Given the description of an element on the screen output the (x, y) to click on. 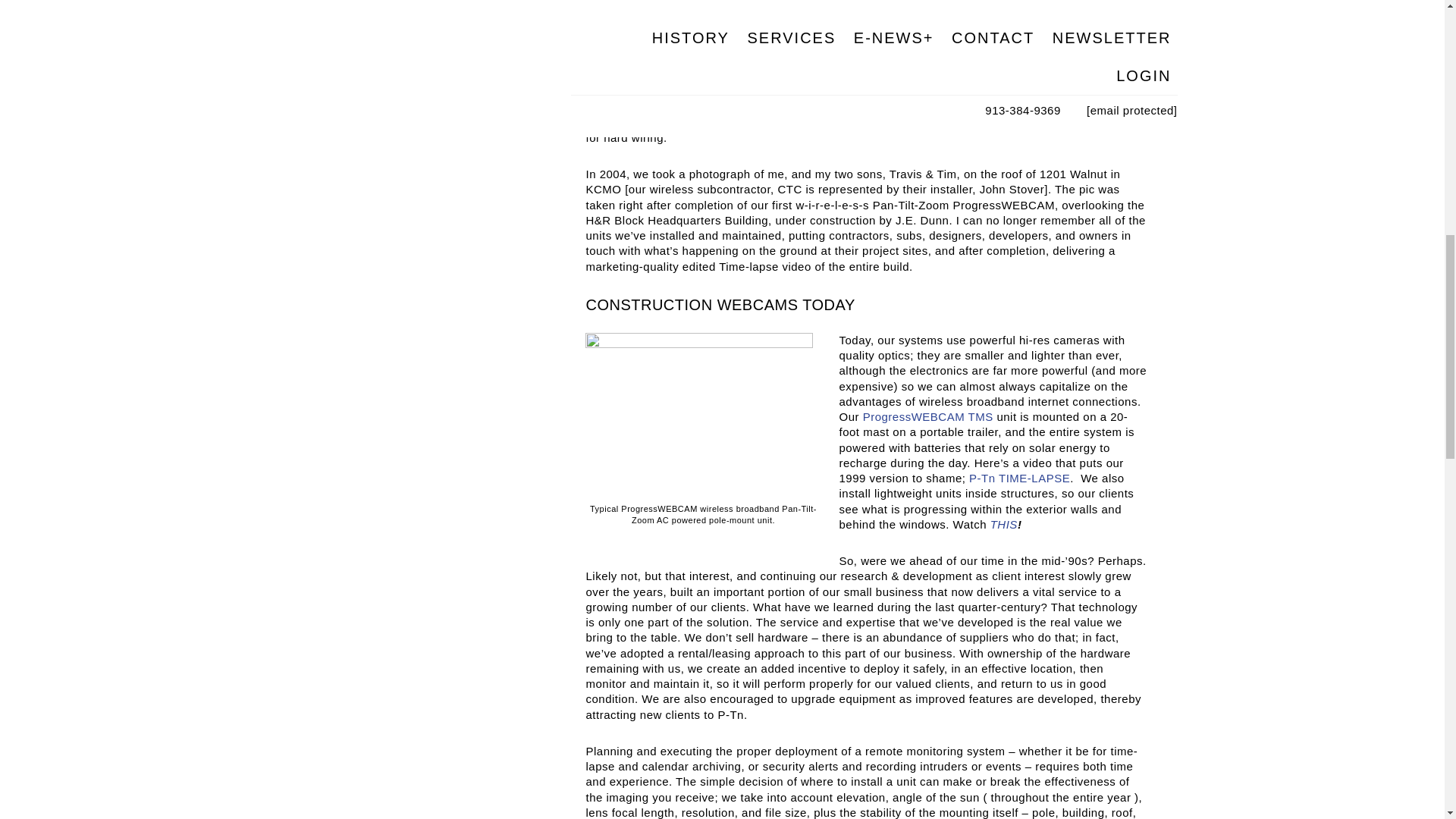
ProgressWEBCAM TMS (927, 416)
P-Tn TIME-LAPSE (1019, 477)
THIS (1003, 523)
